Given the description of an element on the screen output the (x, y) to click on. 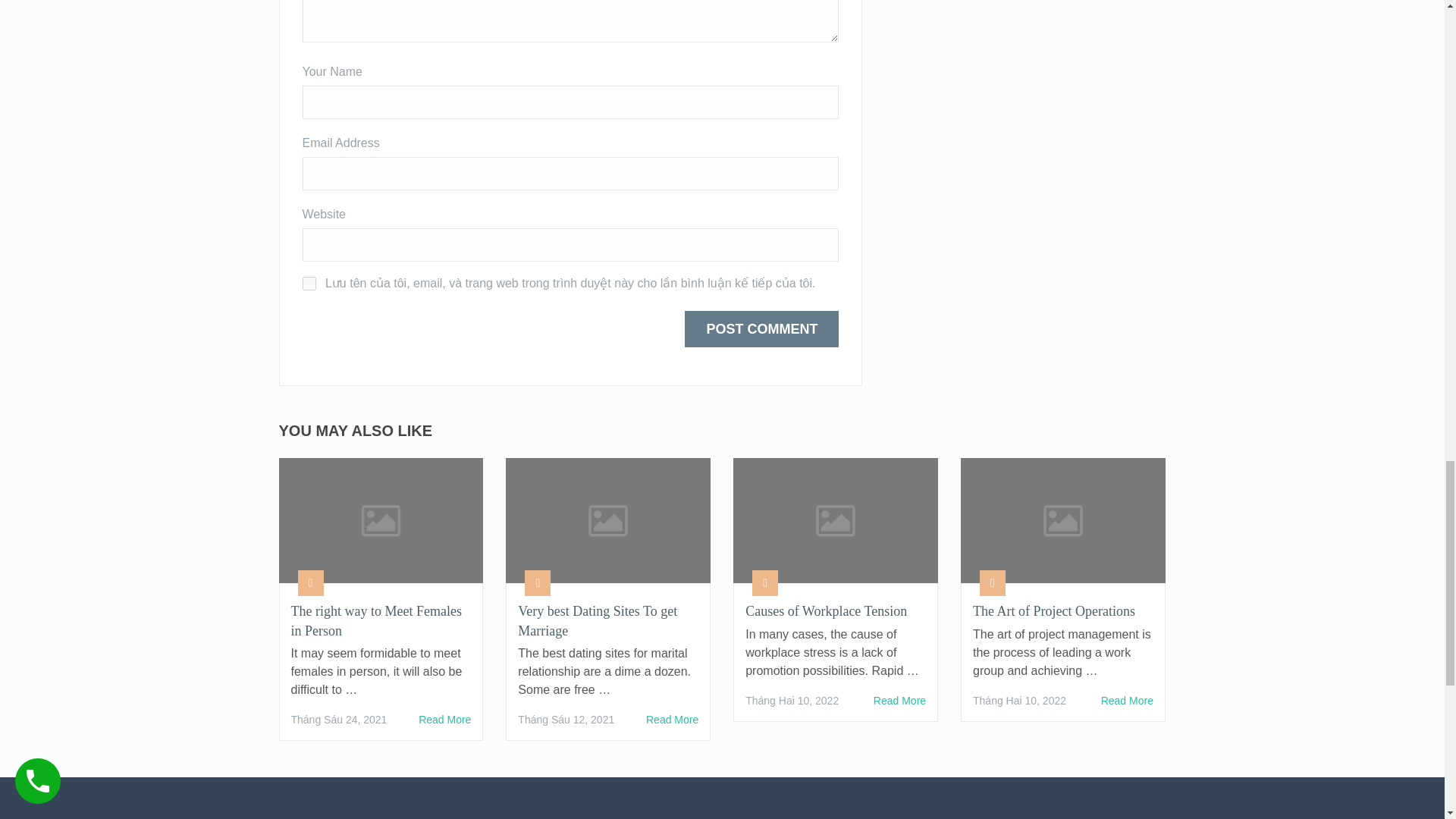
yes (308, 283)
The right way to Meet Females in Person (444, 719)
The right way to Meet Females in Person (381, 620)
The Art of Project Operations (1062, 610)
Very best Dating Sites To get Marriage (608, 620)
The Art of Project Operations (1126, 700)
Causes of Workplace Tension (835, 610)
Very best Dating Sites To get Marriage (672, 719)
Post Comment (761, 329)
Causes of Workplace Tension (899, 700)
